Given the description of an element on the screen output the (x, y) to click on. 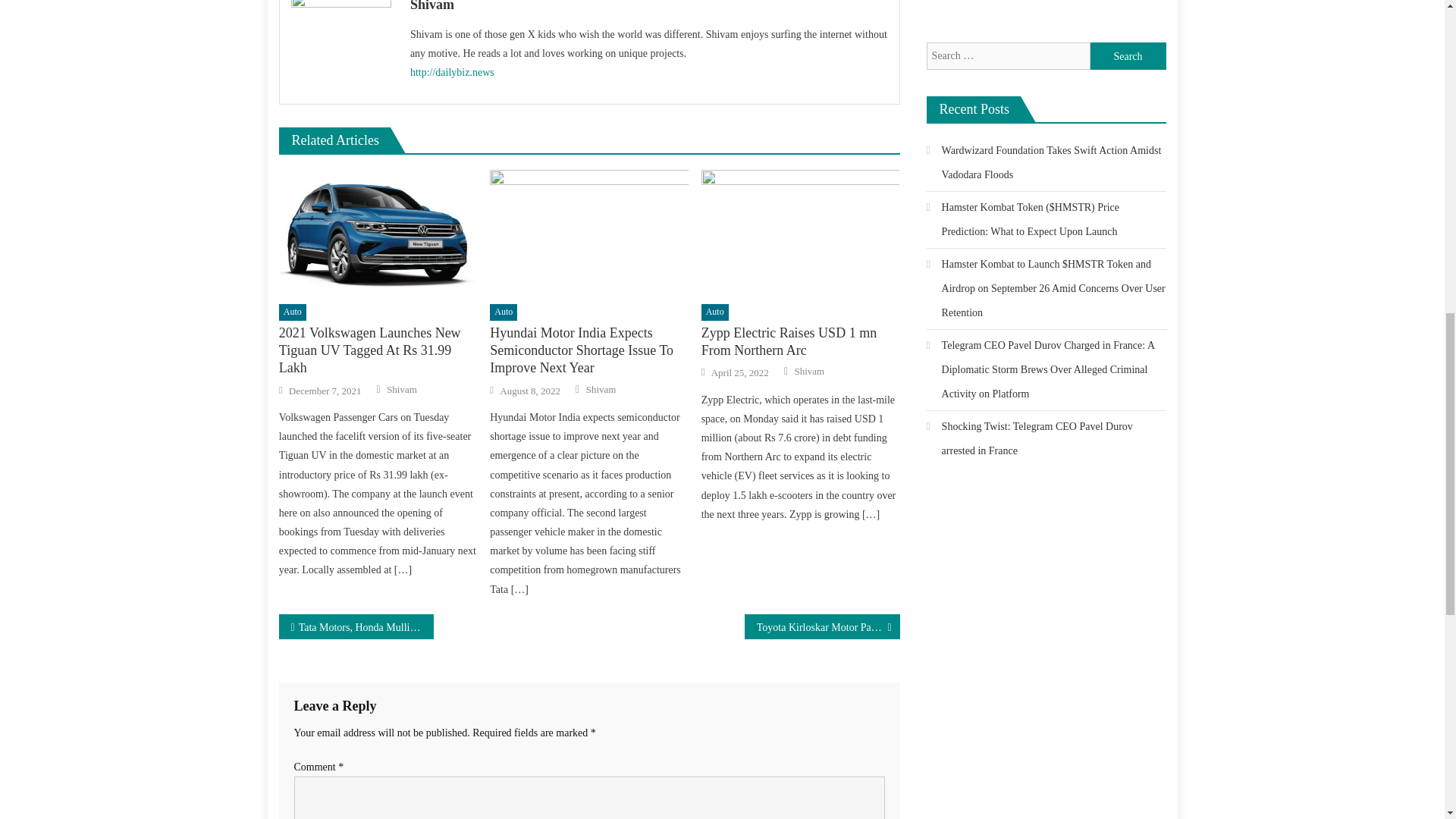
Auto (292, 312)
Auto (502, 312)
Zypp Electric Raises USD 1 mn From Northern Arc (800, 231)
Shivam (649, 8)
Auto (715, 312)
Shivam (600, 389)
Search (1128, 55)
August 8, 2022 (529, 391)
